Given the description of an element on the screen output the (x, y) to click on. 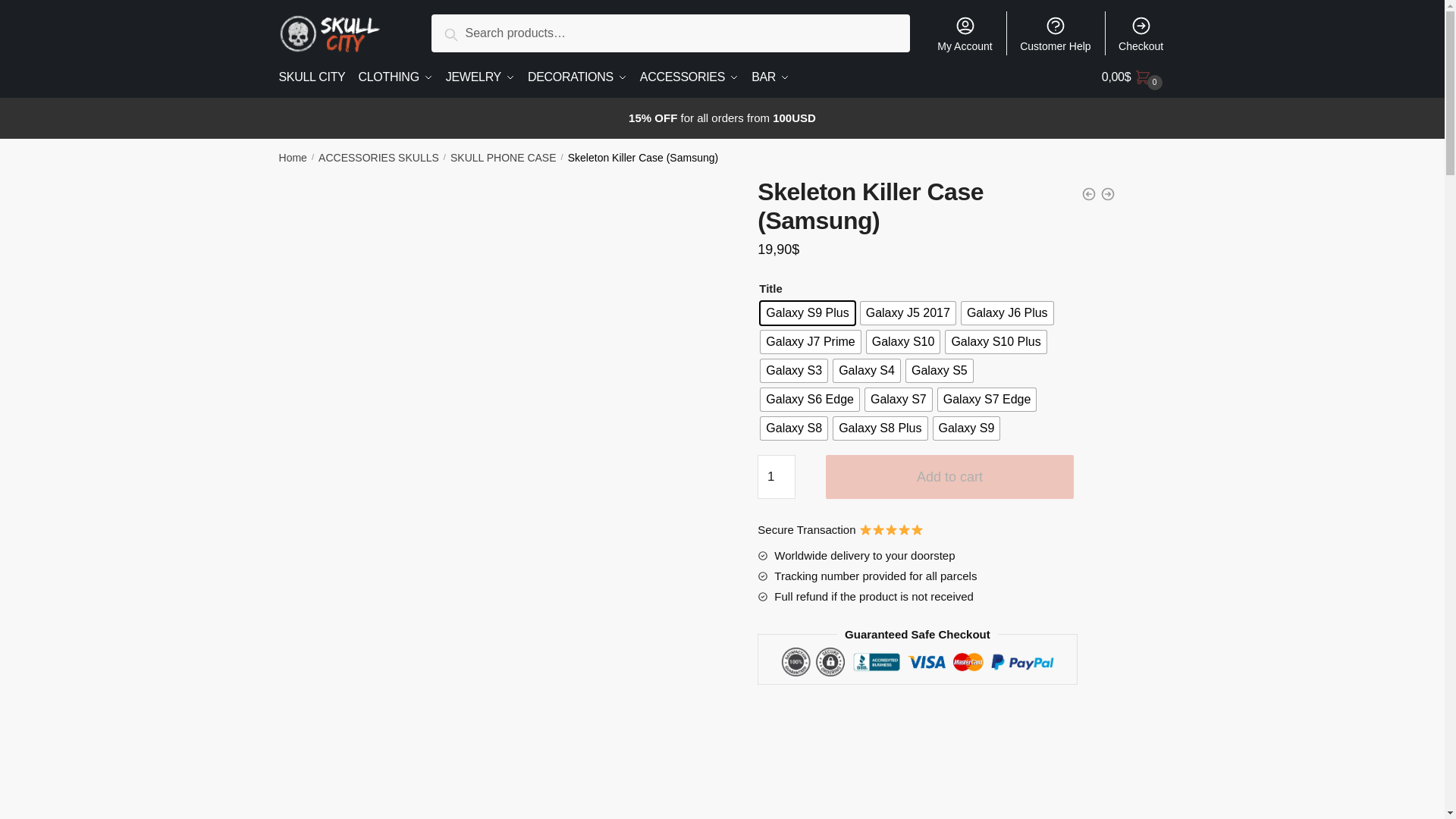
Galaxy S4 (865, 370)
SKULL CITY (315, 76)
Customer Help (1055, 33)
Galaxy S10 (903, 341)
CLOTHING (395, 76)
Skip to navigation (48, 9)
JEWELRY (480, 76)
Galaxy J7 Prime (810, 341)
My Account (964, 33)
Galaxy S10 Plus (994, 341)
